Given the description of an element on the screen output the (x, y) to click on. 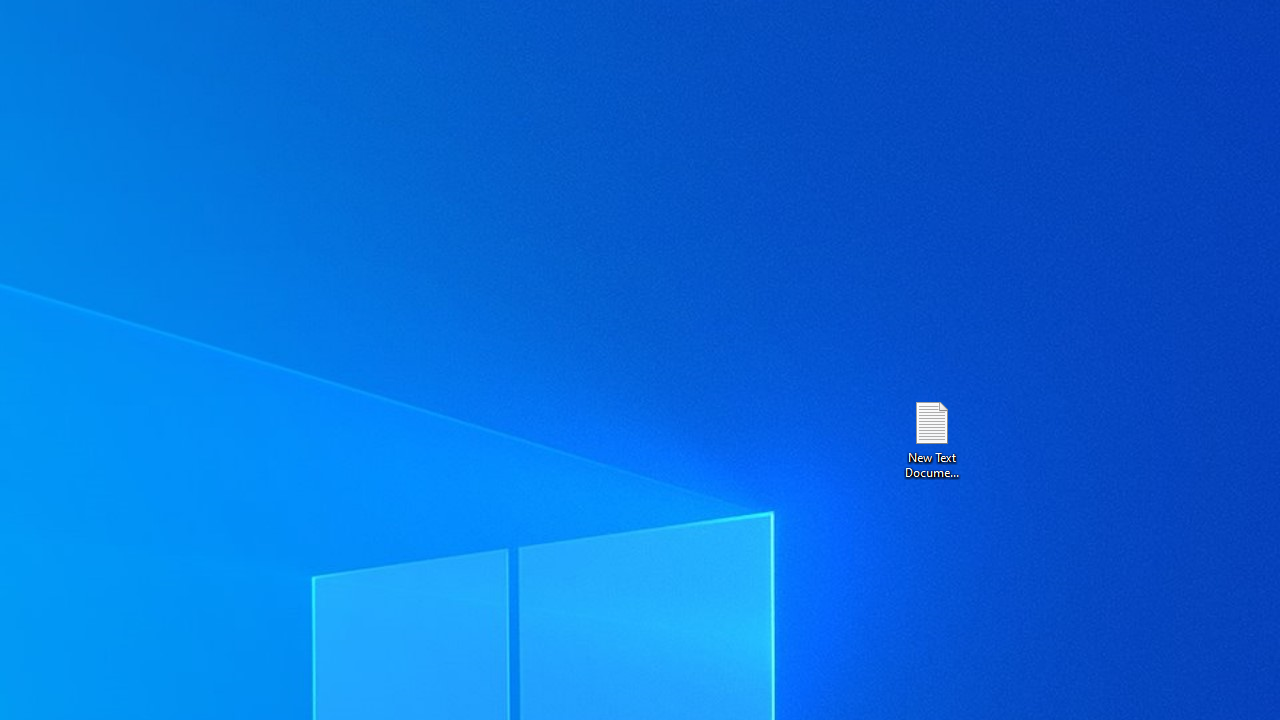
New Text Document (2) (931, 438)
